Given the description of an element on the screen output the (x, y) to click on. 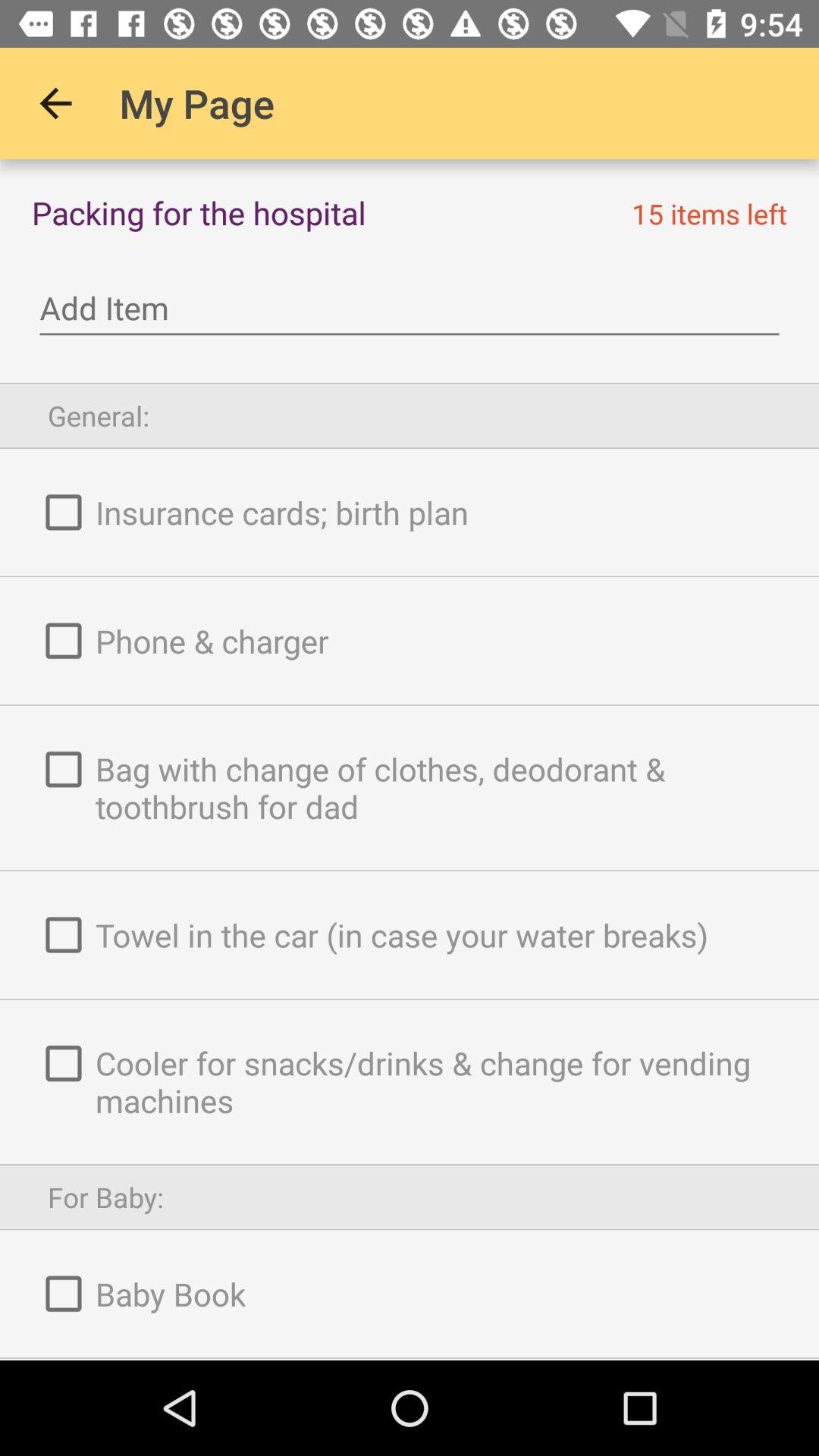
open icon below the packing for the icon (409, 308)
